Given the description of an element on the screen output the (x, y) to click on. 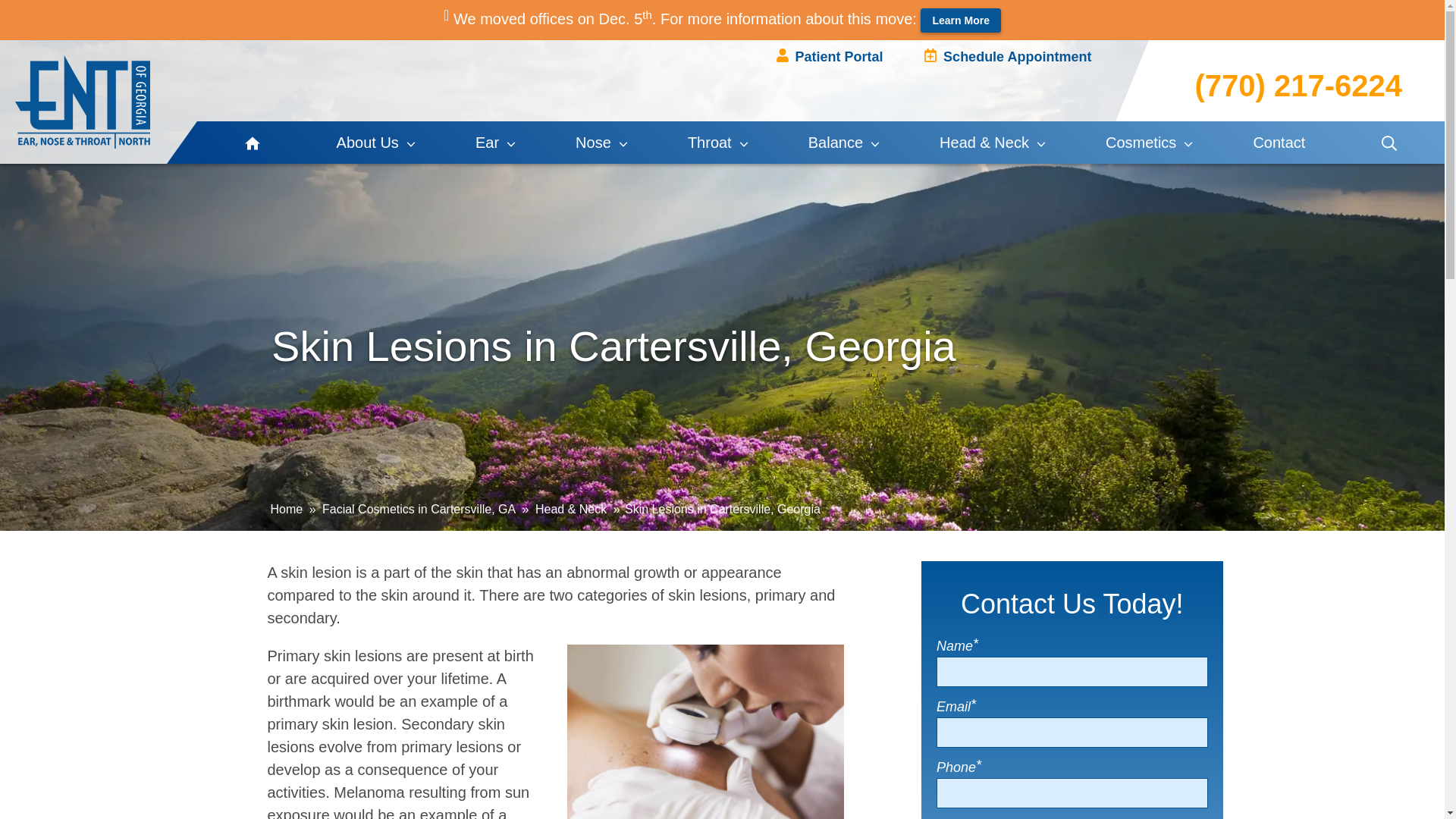
Learn More (960, 20)
Ear (495, 142)
About Us (376, 142)
Schedule Appointment (1006, 56)
Home (81, 101)
Patient Portal (829, 56)
